Given the description of an element on the screen output the (x, y) to click on. 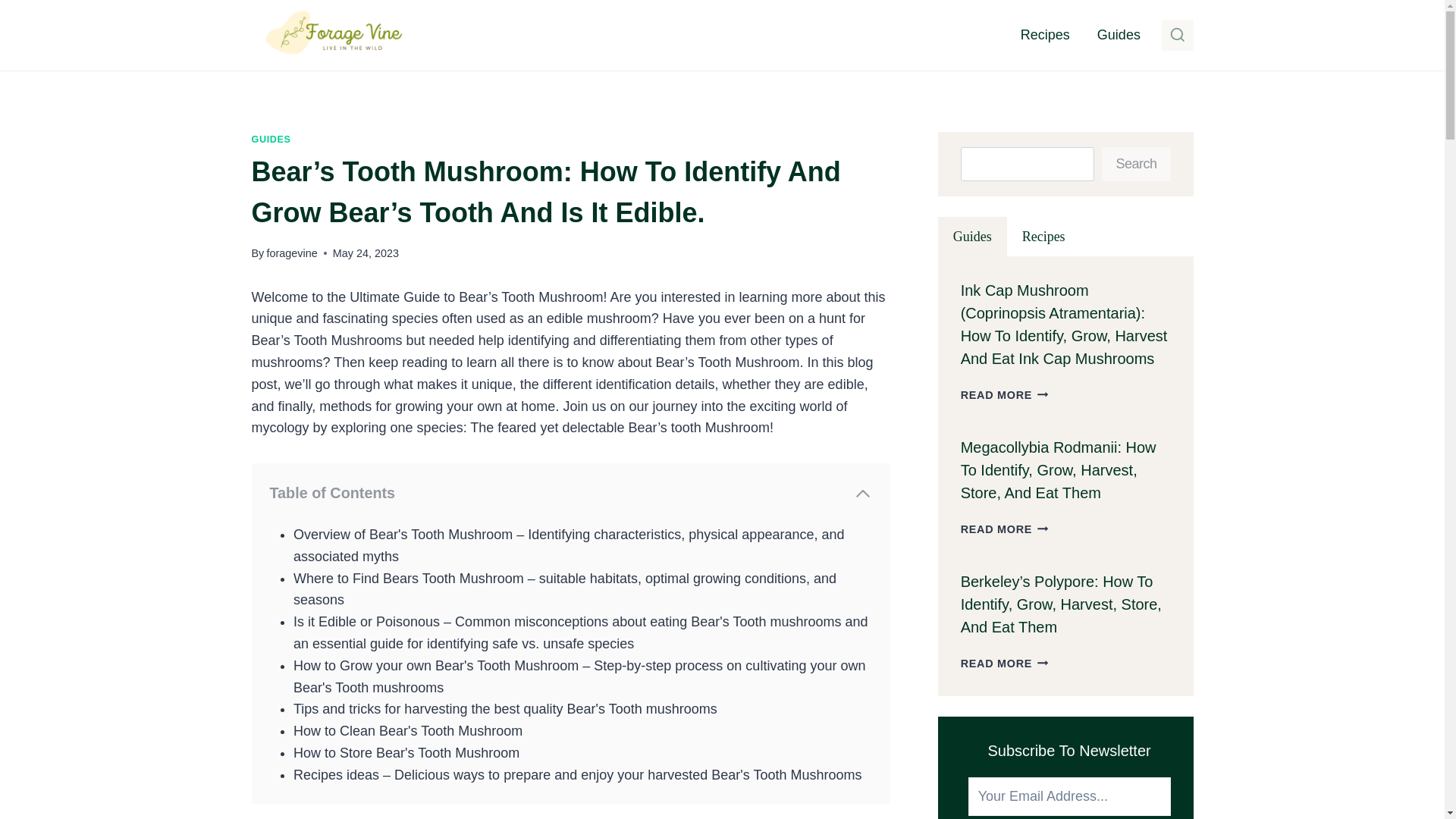
Table of Contents (570, 493)
How to Store Bear's Tooth Mushroom (406, 752)
Recipes (1045, 34)
How to Clean Bear's Tooth Mushroom  (409, 730)
foragevine (291, 253)
Guides (1118, 34)
GUIDES (271, 139)
